Given the description of an element on the screen output the (x, y) to click on. 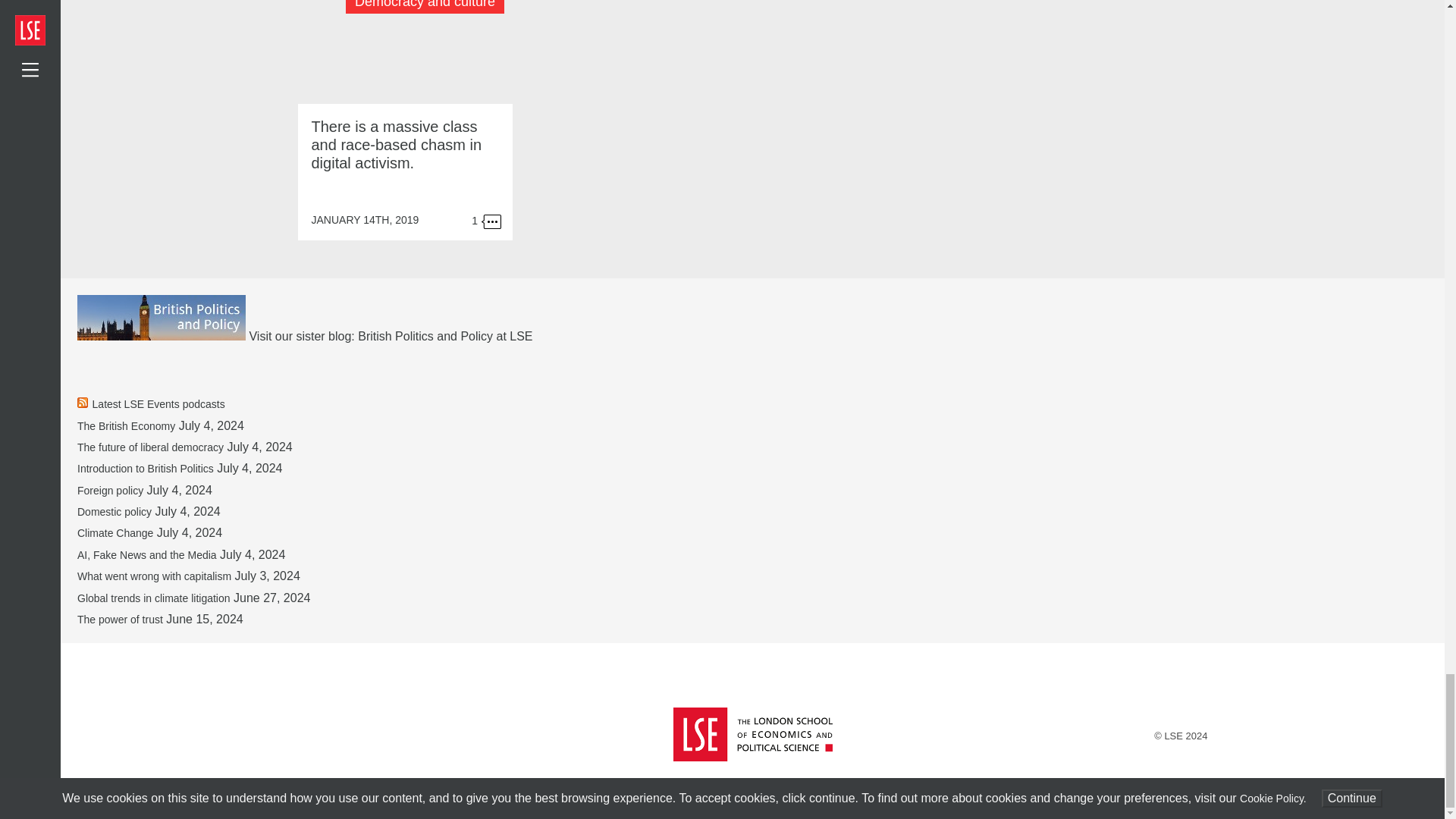
Post Comment (756, 94)
